Given the description of an element on the screen output the (x, y) to click on. 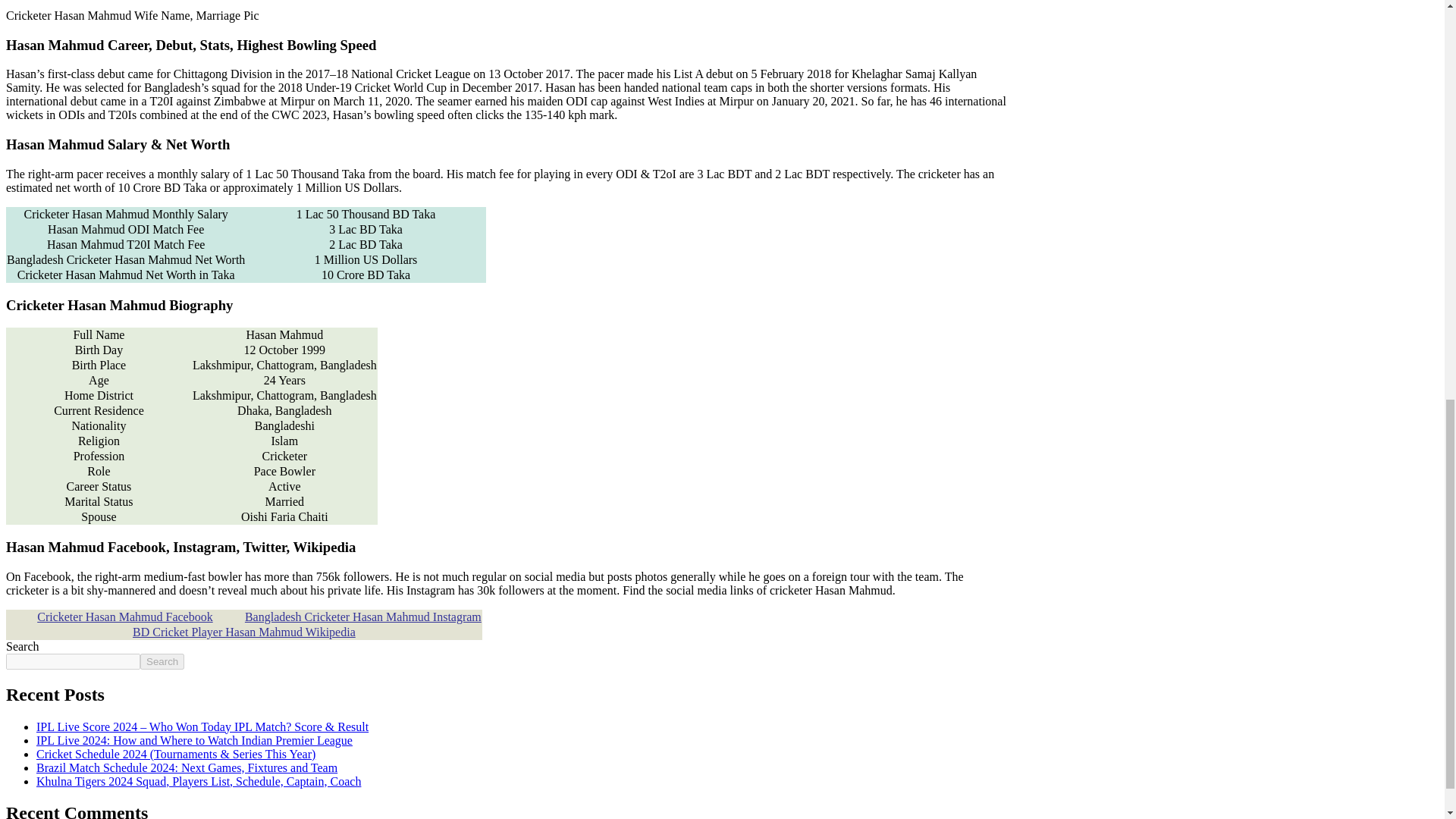
Cricketer Hasan Mahmud Facebook (124, 616)
Bangladesh Cricketer Hasan Mahmud Instagram (362, 616)
IPL Live 2024: How and Where to Watch Indian Premier League (194, 739)
Brazil Match Schedule 2024: Next Games, Fixtures and Team (186, 767)
BD Cricket Player Hasan Mahmud Wikipedia (243, 631)
Search (161, 661)
